Given the description of an element on the screen output the (x, y) to click on. 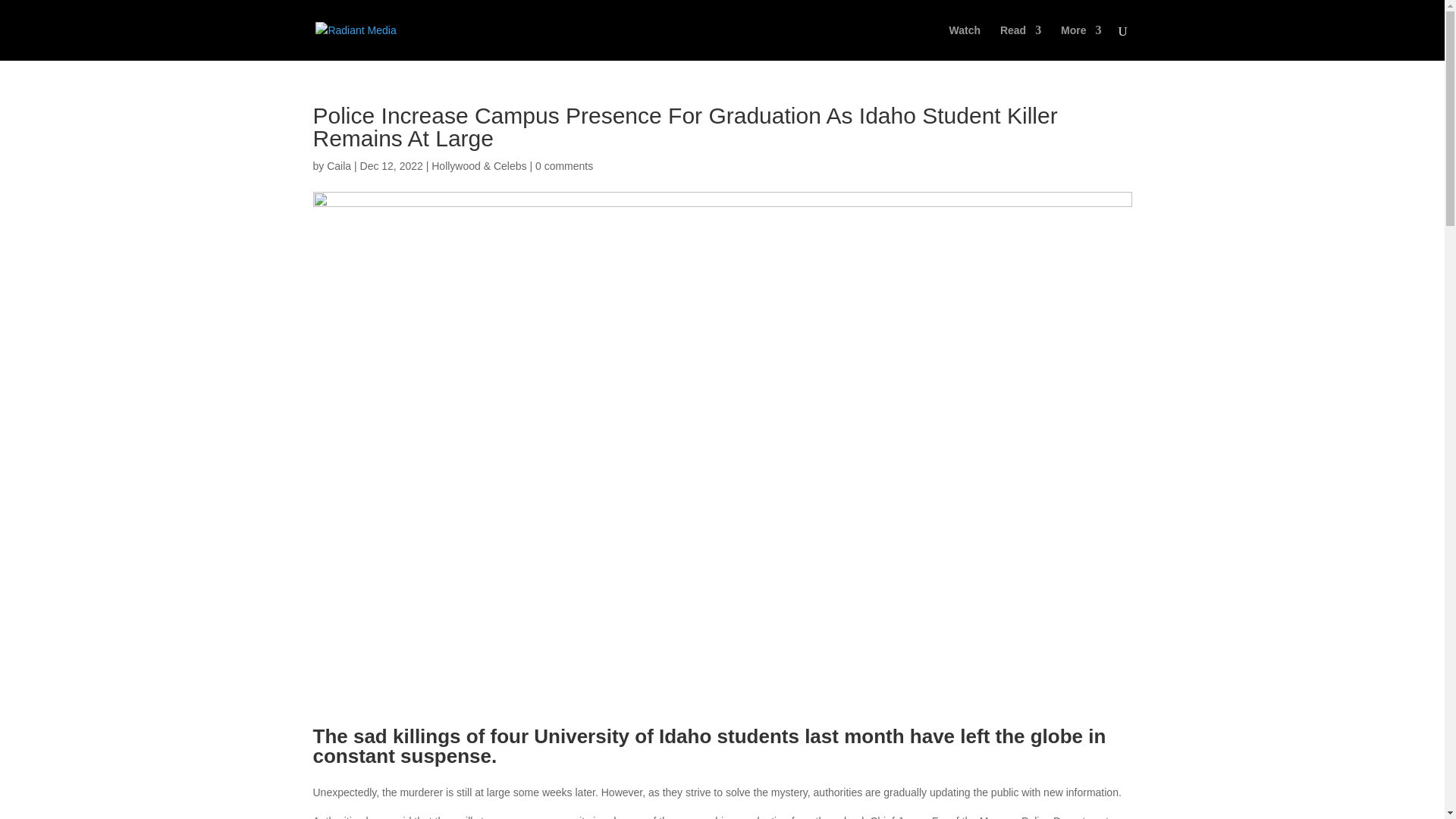
More (1080, 42)
Posts by Caila (338, 165)
Read (1020, 42)
0 comments (563, 165)
Caila (338, 165)
